Given the description of an element on the screen output the (x, y) to click on. 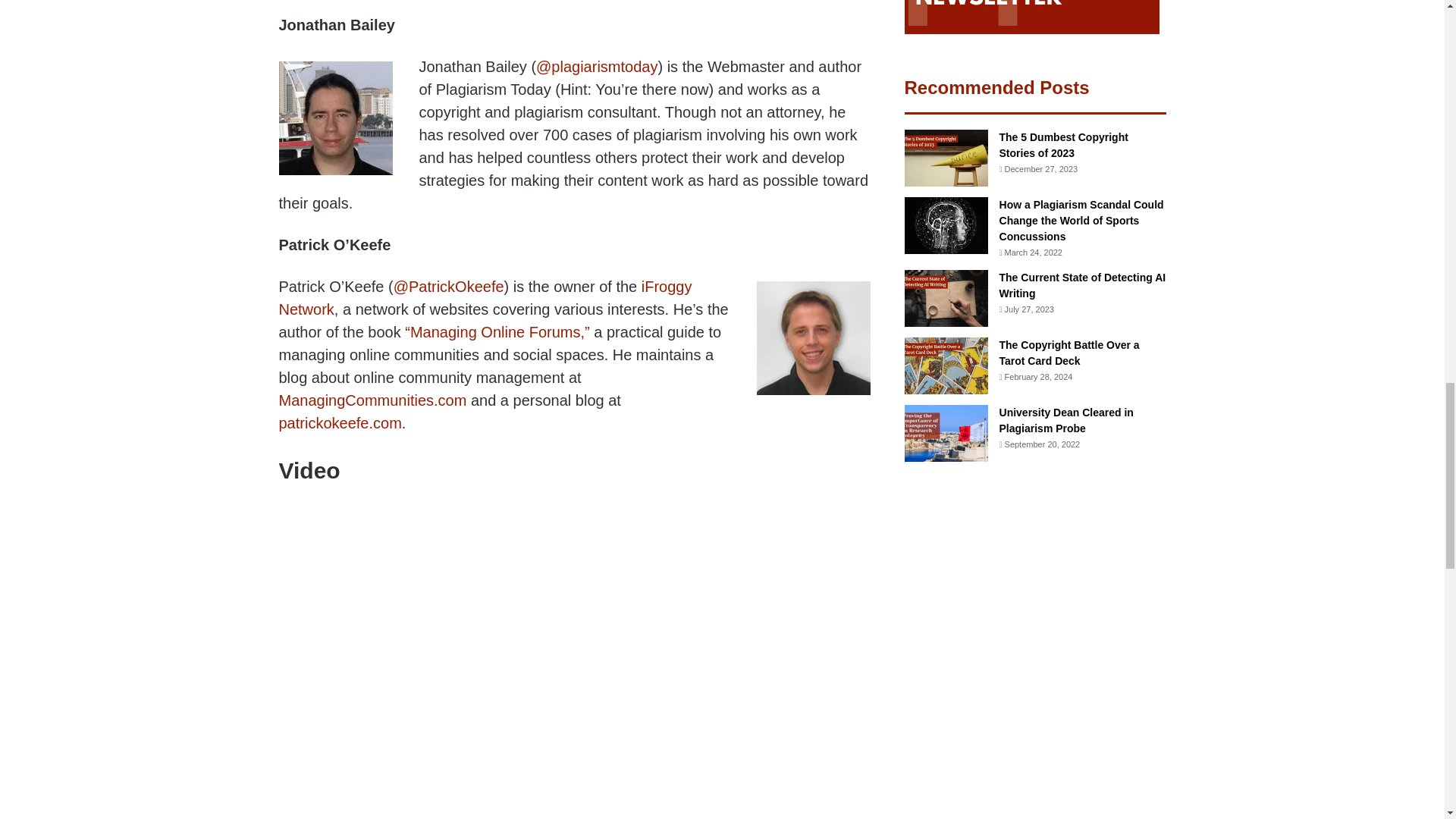
patrickokeefe.com (340, 422)
ManagingCommunities.com (373, 400)
jonathan-box (336, 118)
iFroggy Network (486, 297)
patrick (813, 337)
